Given the description of an element on the screen output the (x, y) to click on. 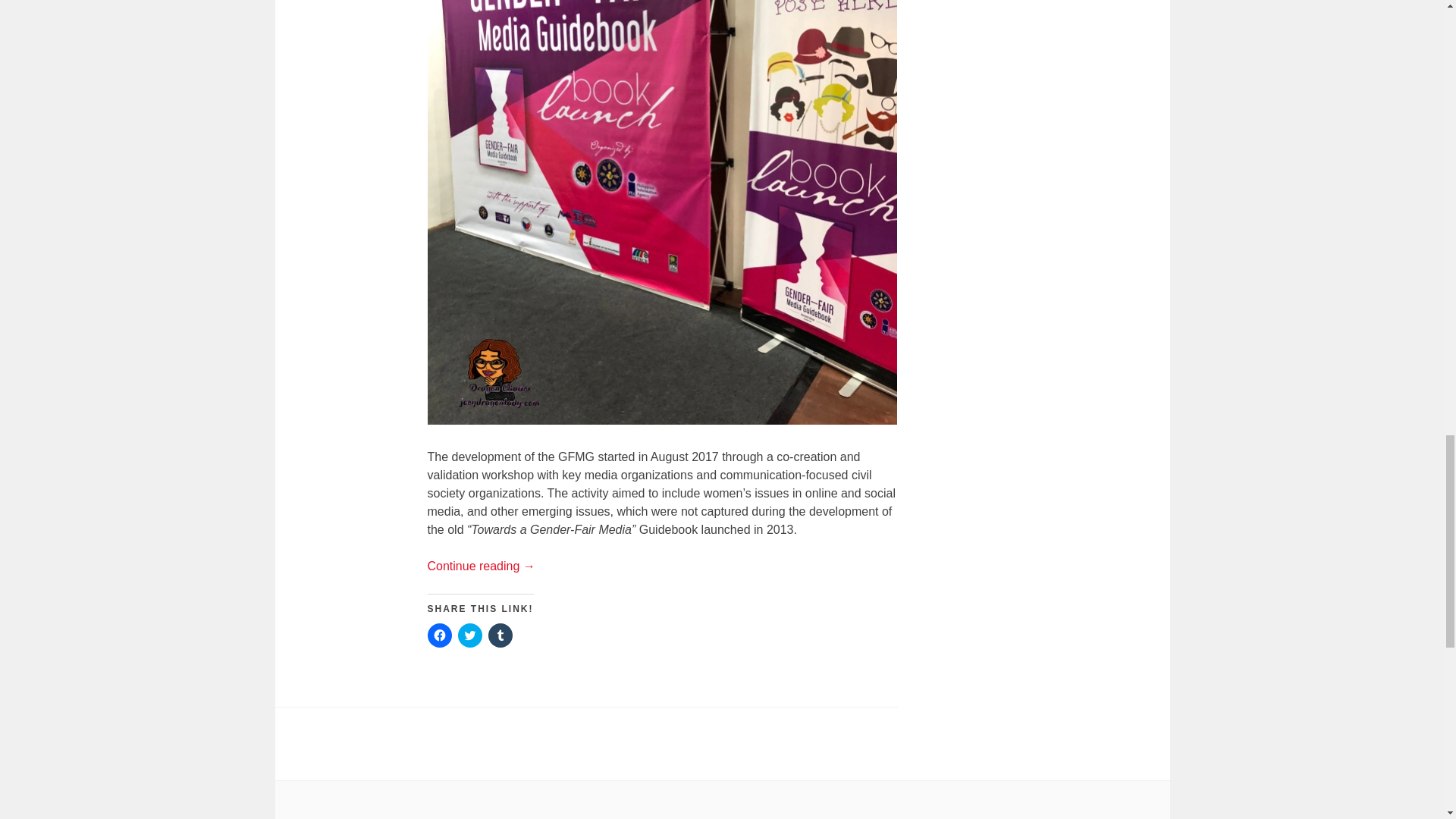
Click to share on Twitter (469, 635)
Click to share on Tumblr (499, 635)
Click to share on Facebook (439, 635)
